Given the description of an element on the screen output the (x, y) to click on. 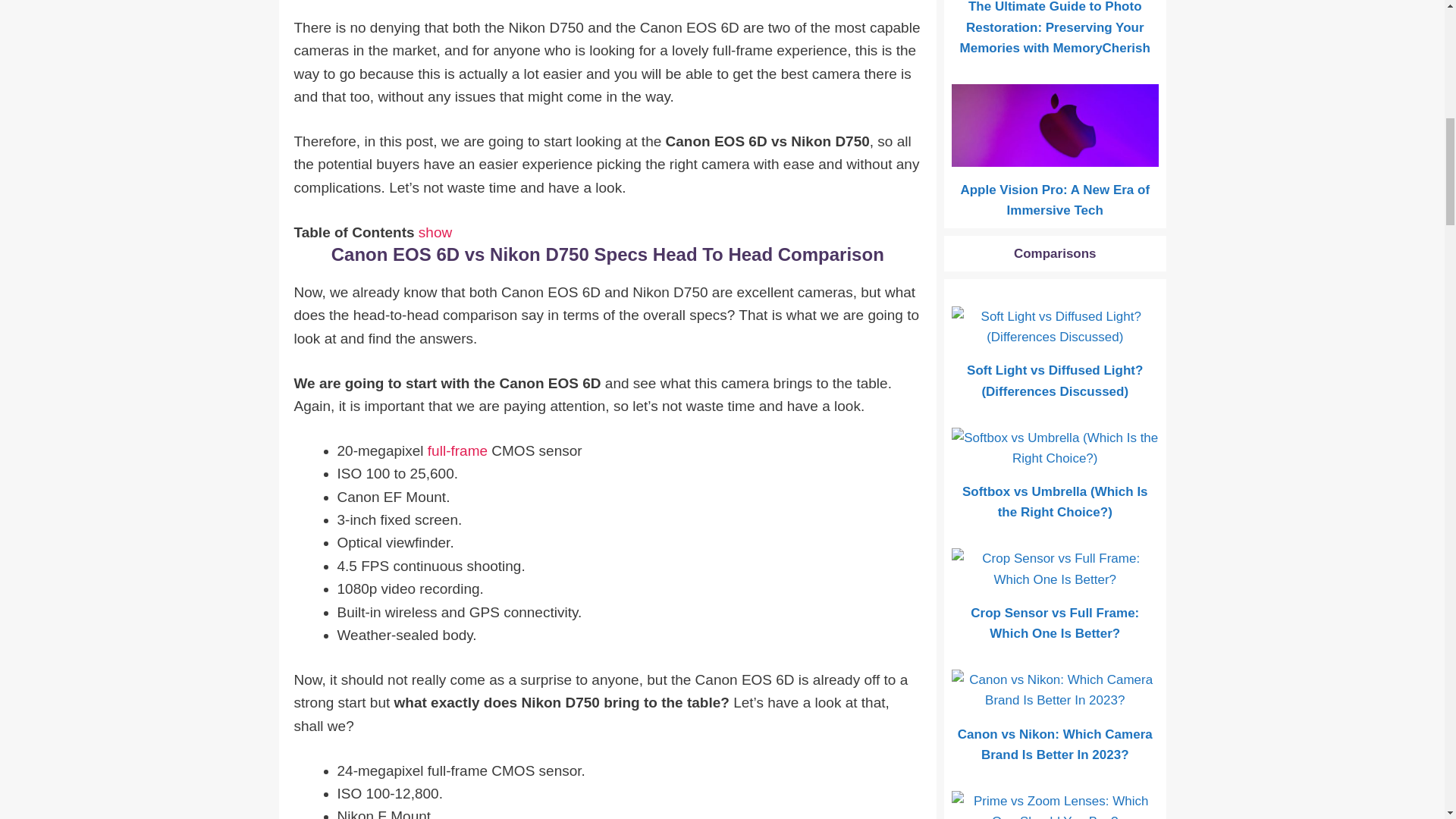
Apple Vision Pro: A New Era of Immersive Tech (1055, 156)
Prime vs Zoom Lenses: Which One Should You Buy? (1055, 816)
Scroll back to top (1406, 720)
Canon vs Nikon: Which Camera Brand Is Better In 2023? (1055, 699)
Crop Sensor vs Full Frame: Which One Is Better? (1055, 579)
